Given the description of an element on the screen output the (x, y) to click on. 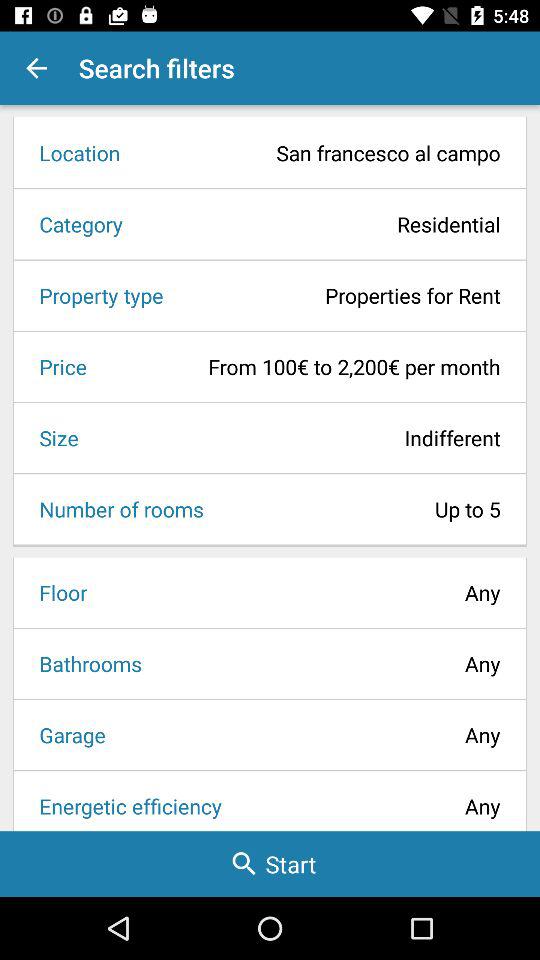
press the icon above the category (316, 152)
